Given the description of an element on the screen output the (x, y) to click on. 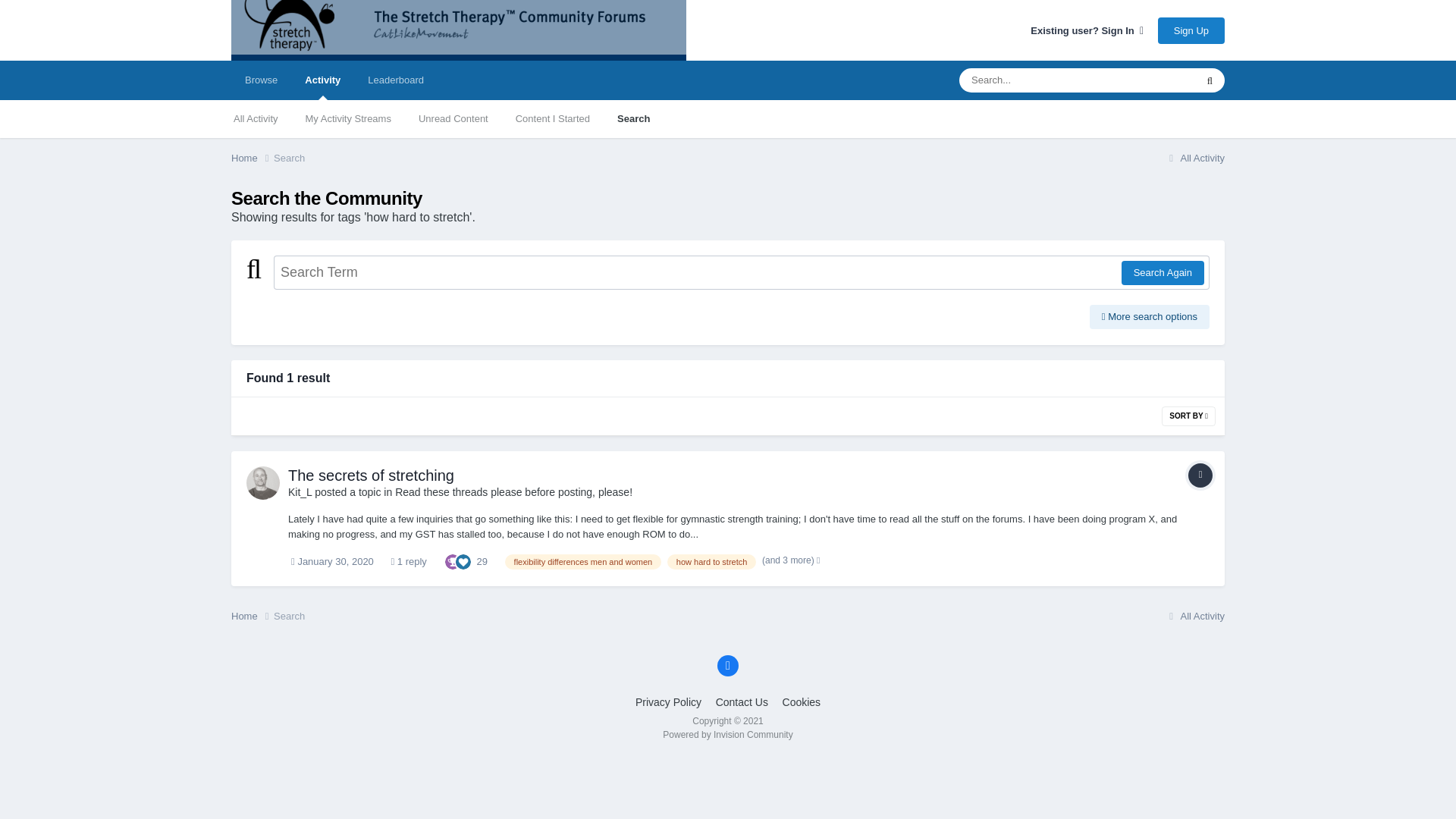
All Activity (255, 118)
Search (633, 118)
Home (252, 616)
More search options (1149, 316)
Browse (261, 79)
Home (252, 158)
Leaderboard (395, 79)
Search Again (1162, 273)
Home (252, 158)
Invision Community (727, 734)
Topic (1200, 475)
My Activity Streams (348, 118)
All Activity (1194, 157)
Content I Started (553, 118)
